Given the description of an element on the screen output the (x, y) to click on. 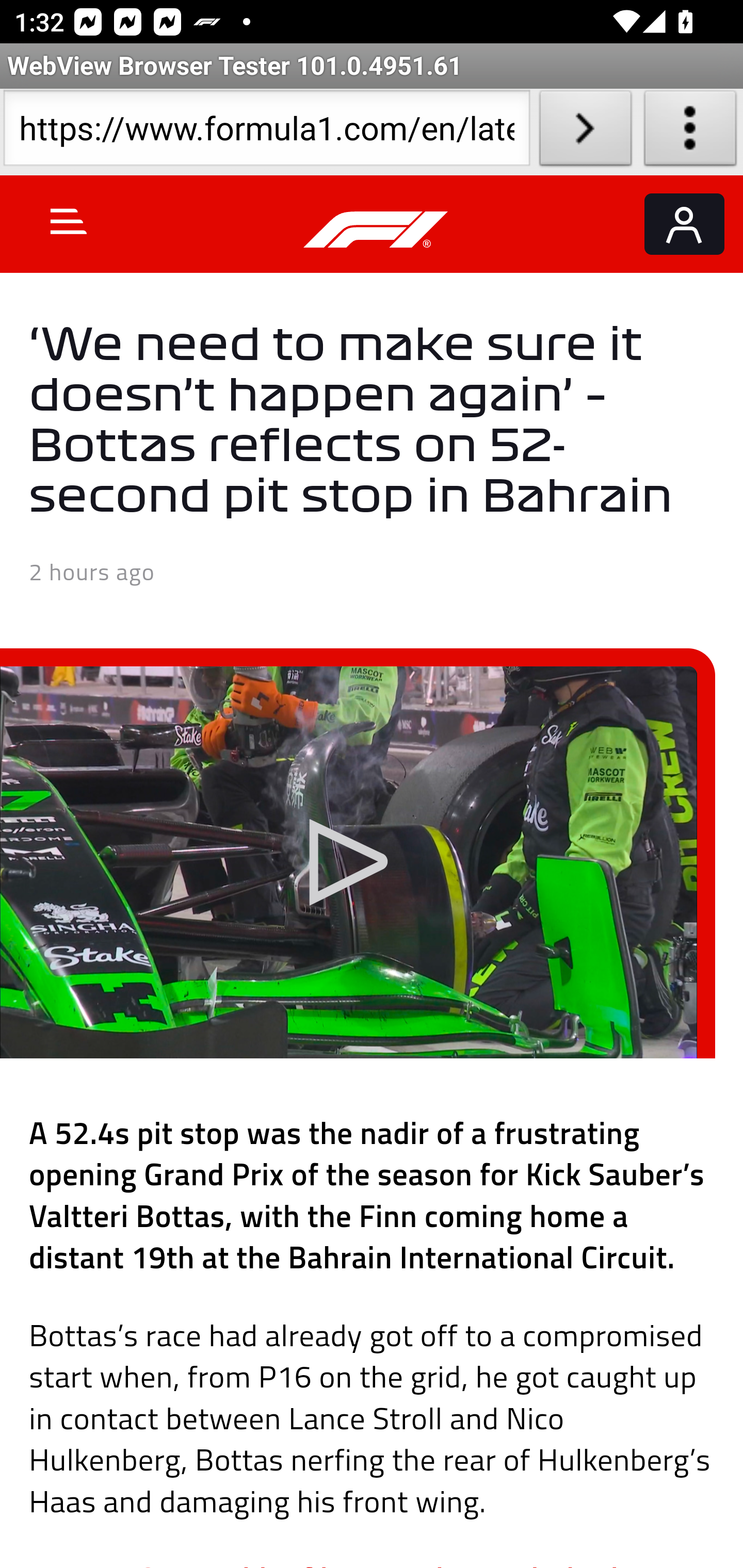
Load URL (585, 132)
About WebView (690, 132)
Toggle Menu (68, 220)
Formula 1 (376, 230)
 Login/Register  Login/Register (683, 223)
Play Video (348, 862)
